Given the description of an element on the screen output the (x, y) to click on. 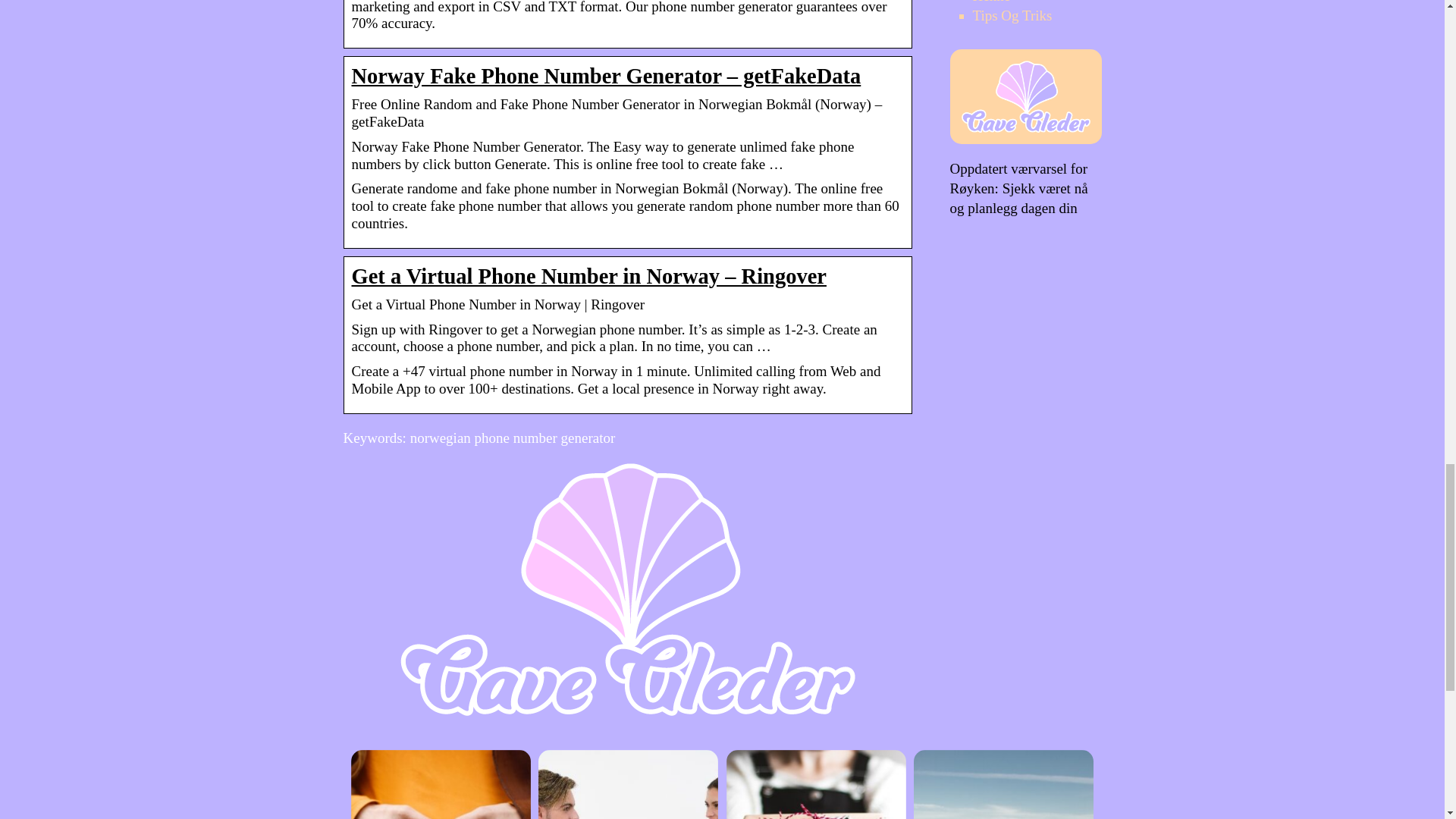
Henne (991, 2)
Hvordan komme godt gjennom svangerskapet (439, 784)
Slik finner du den perfekte julegaven til dine ansatte (815, 784)
Tips Og Triks (1011, 15)
